Given the description of an element on the screen output the (x, y) to click on. 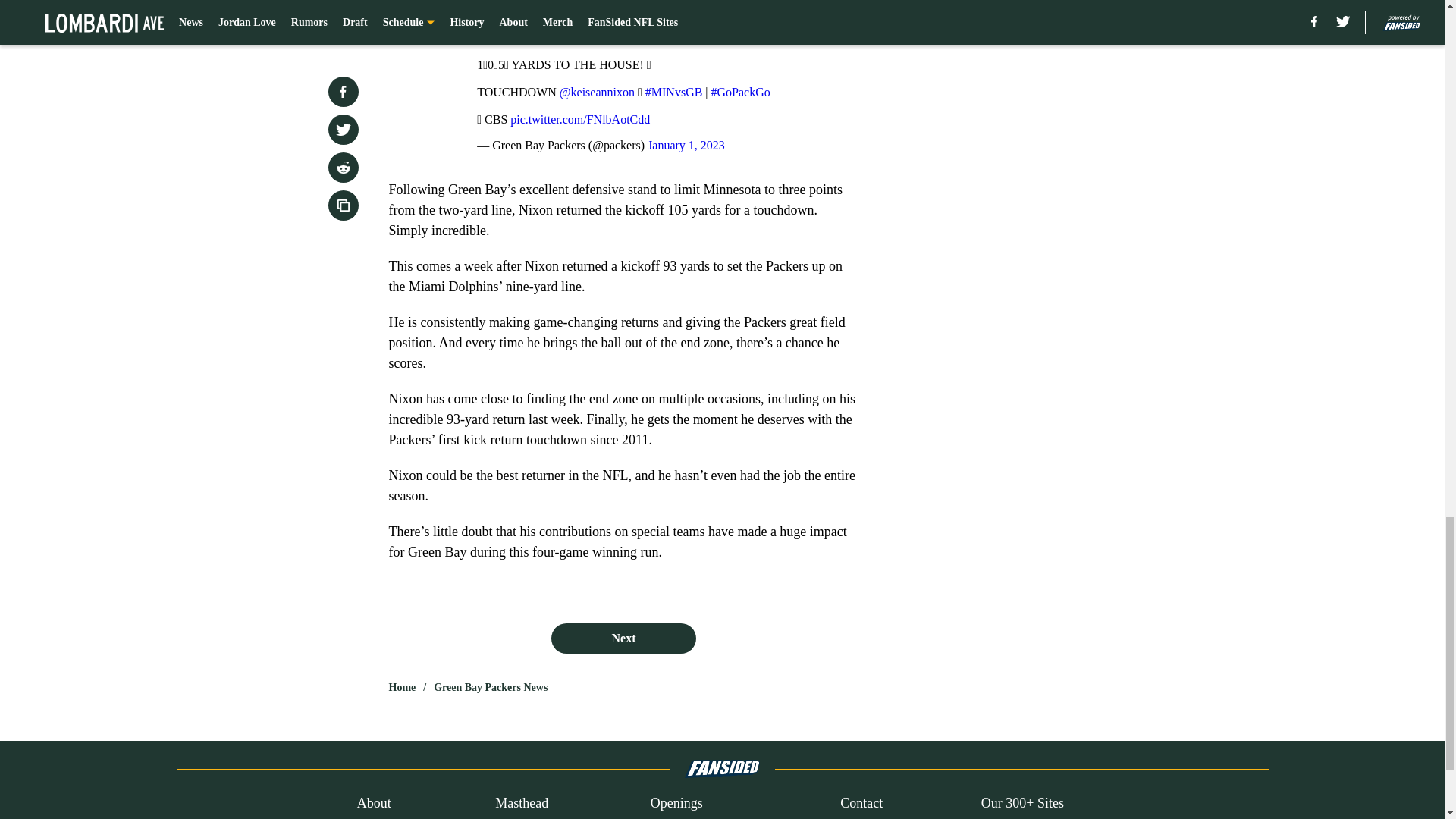
Masthead (521, 803)
Openings (676, 803)
Next (622, 638)
Green Bay Packers News (490, 687)
Home (401, 687)
January 1, 2023 (686, 144)
Contact (861, 803)
About (373, 803)
